Given the description of an element on the screen output the (x, y) to click on. 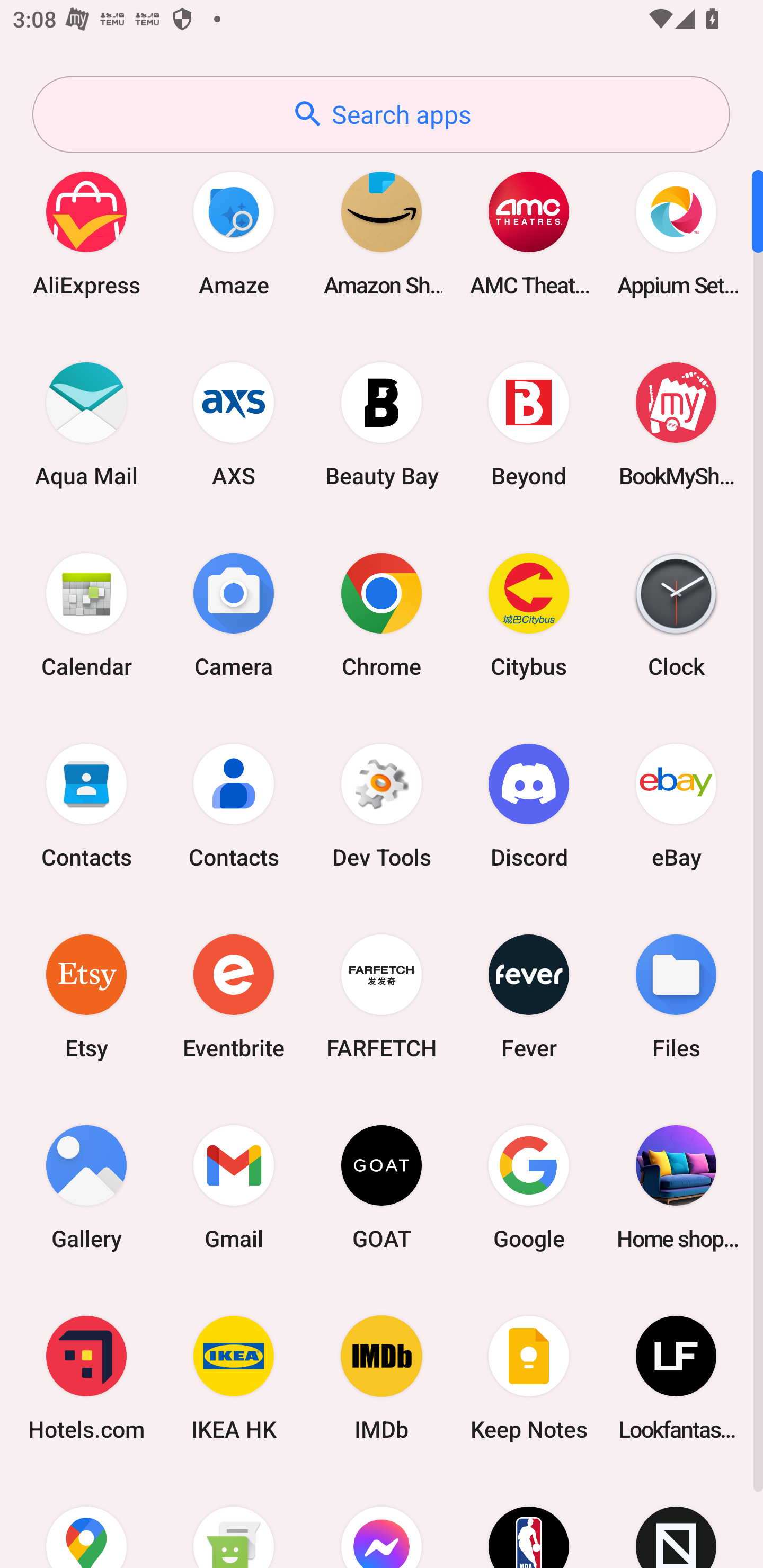
  Search apps (381, 114)
AliExpress (86, 233)
Amaze (233, 233)
Amazon Shopping (381, 233)
AMC Theatres (528, 233)
Appium Settings (676, 233)
Aqua Mail (86, 424)
AXS (233, 424)
Beauty Bay (381, 424)
Beyond (528, 424)
BookMyShow (676, 424)
Calendar (86, 614)
Camera (233, 614)
Chrome (381, 614)
Citybus (528, 614)
Clock (676, 614)
Contacts (86, 805)
Contacts (233, 805)
Dev Tools (381, 805)
Discord (528, 805)
eBay (676, 805)
Etsy (86, 996)
Eventbrite (233, 996)
FARFETCH (381, 996)
Fever (528, 996)
Files (676, 996)
Gallery (86, 1186)
Gmail (233, 1186)
GOAT (381, 1186)
Google (528, 1186)
Home shopping (676, 1186)
Hotels.com (86, 1377)
IKEA HK (233, 1377)
IMDb (381, 1377)
Keep Notes (528, 1377)
Lookfantastic (676, 1377)
